Given the description of an element on the screen output the (x, y) to click on. 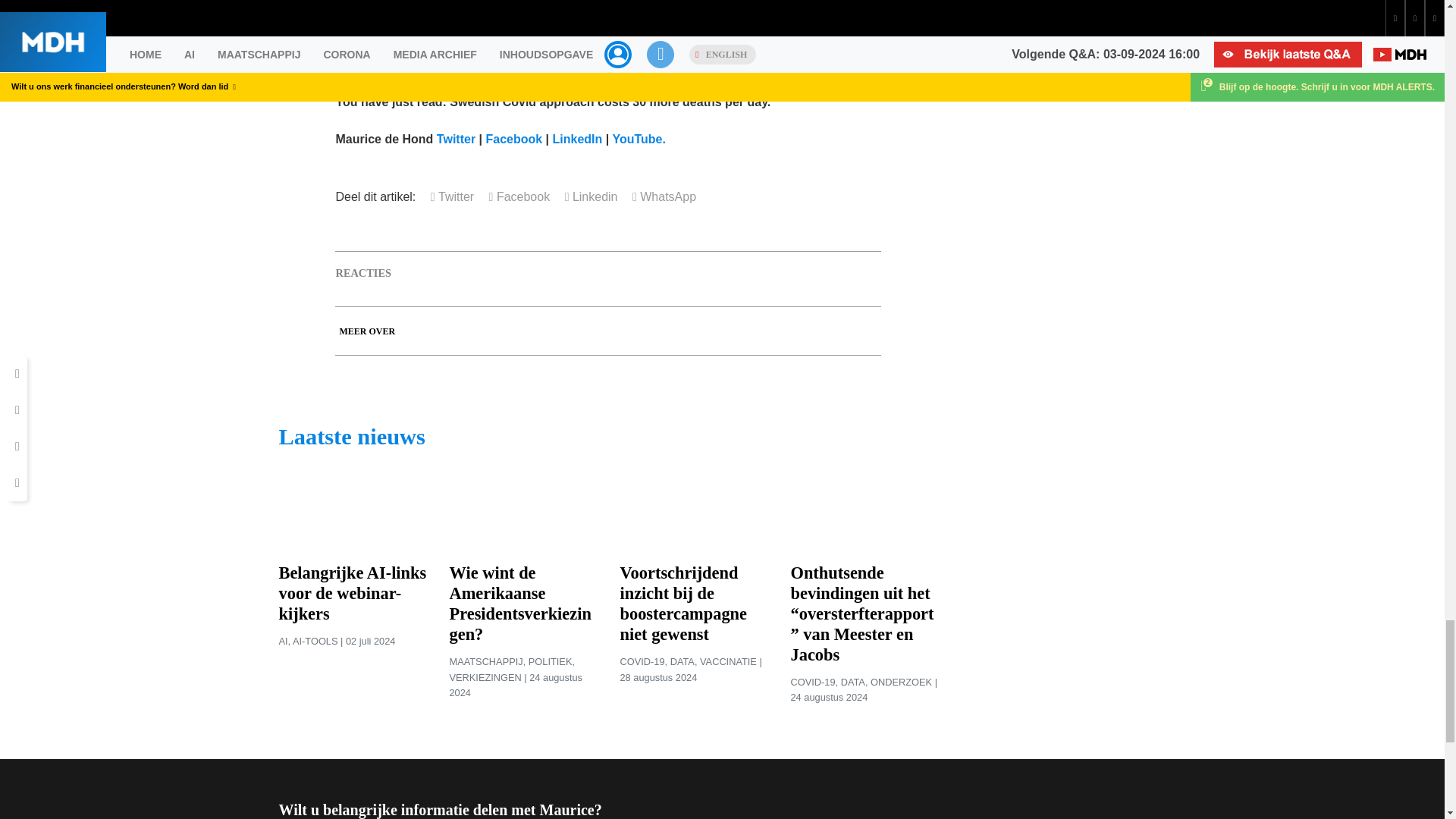
WhatsApp (663, 196)
Twitter (456, 138)
Linkedin (590, 196)
Twitter (452, 196)
Facebook (519, 196)
Facebook (512, 138)
Maatschappij (485, 661)
Laatste nieuws (352, 436)
YouTube. (638, 138)
LinkedIn (577, 138)
